Given the description of an element on the screen output the (x, y) to click on. 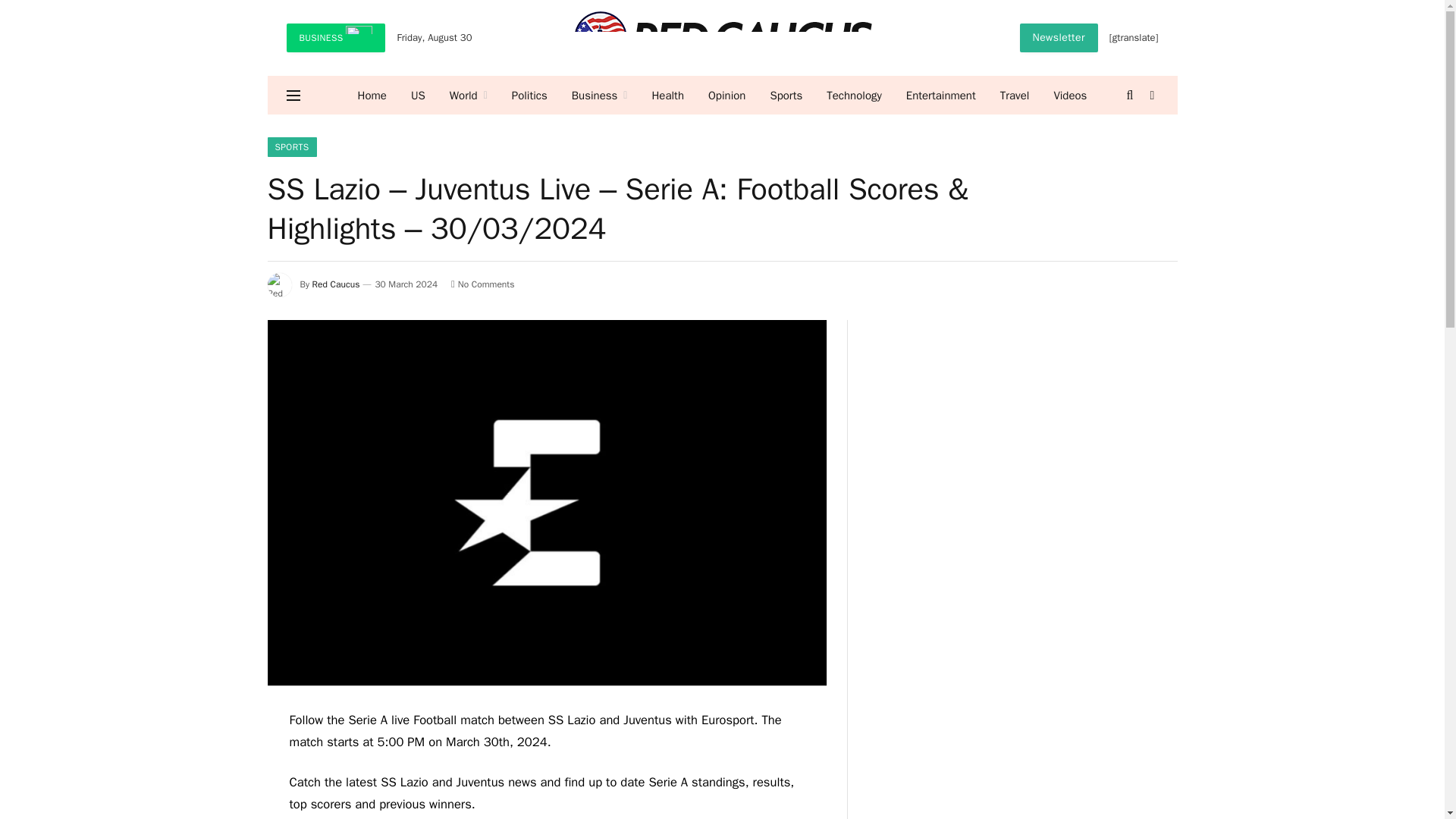
US (418, 95)
Home (372, 95)
Switch to Dark Design - easier on eyes. (1150, 95)
Red Caucus (722, 38)
Politics (529, 95)
Posts by Red Caucus (336, 284)
BUSINESS (335, 37)
World (468, 95)
Newsletter (1058, 37)
